Given the description of an element on the screen output the (x, y) to click on. 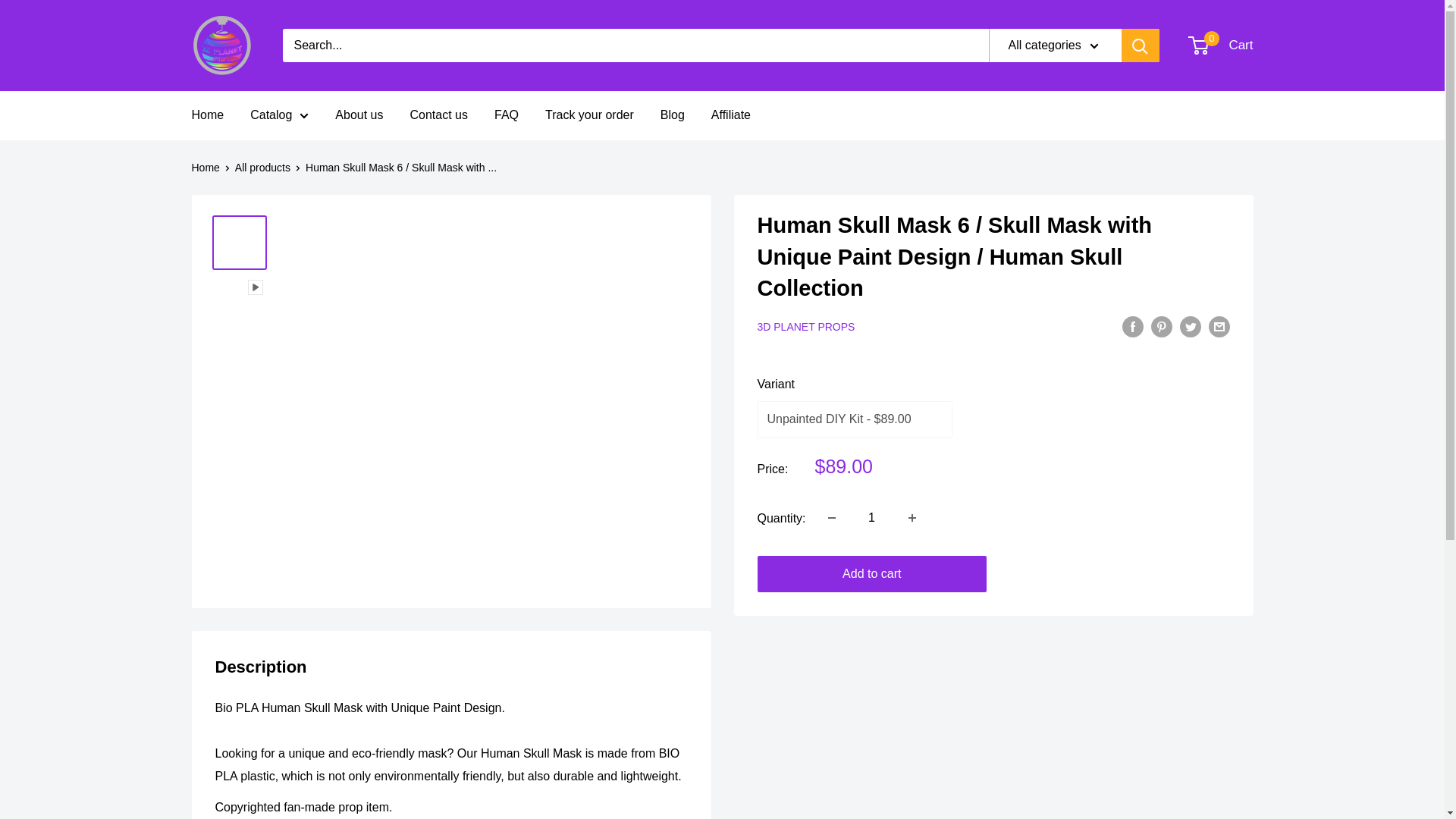
1 (871, 517)
Decrease quantity by 1 (831, 517)
3dplanetprops (1221, 45)
Home (220, 45)
Increase quantity by 1 (207, 115)
Catalog (912, 517)
